Given the description of an element on the screen output the (x, y) to click on. 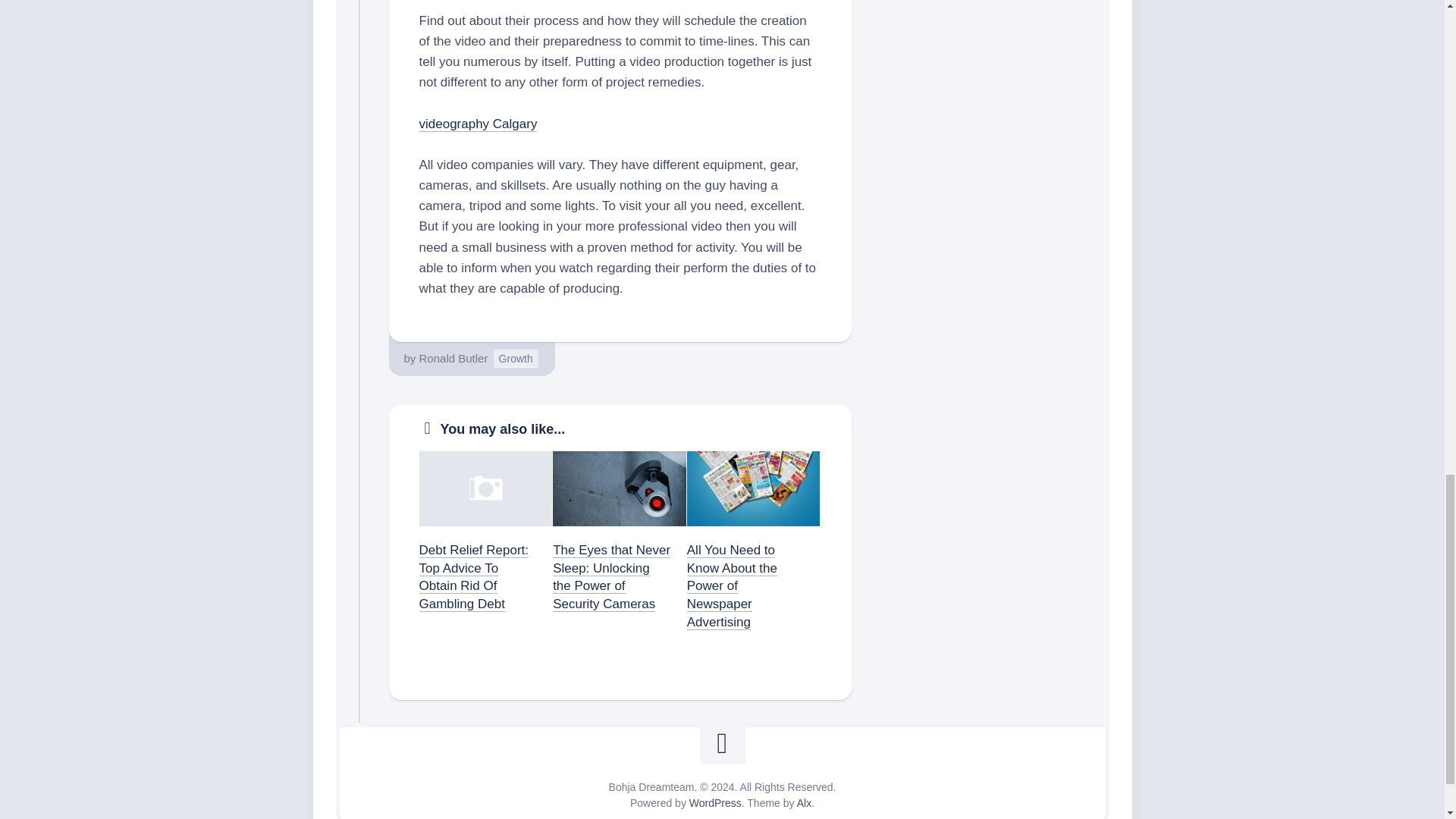
Growth (515, 358)
Alx (803, 802)
WordPress (714, 802)
Ronald Butler (453, 358)
videography Calgary (478, 123)
Posts by Ronald Butler (453, 358)
